Given the description of an element on the screen output the (x, y) to click on. 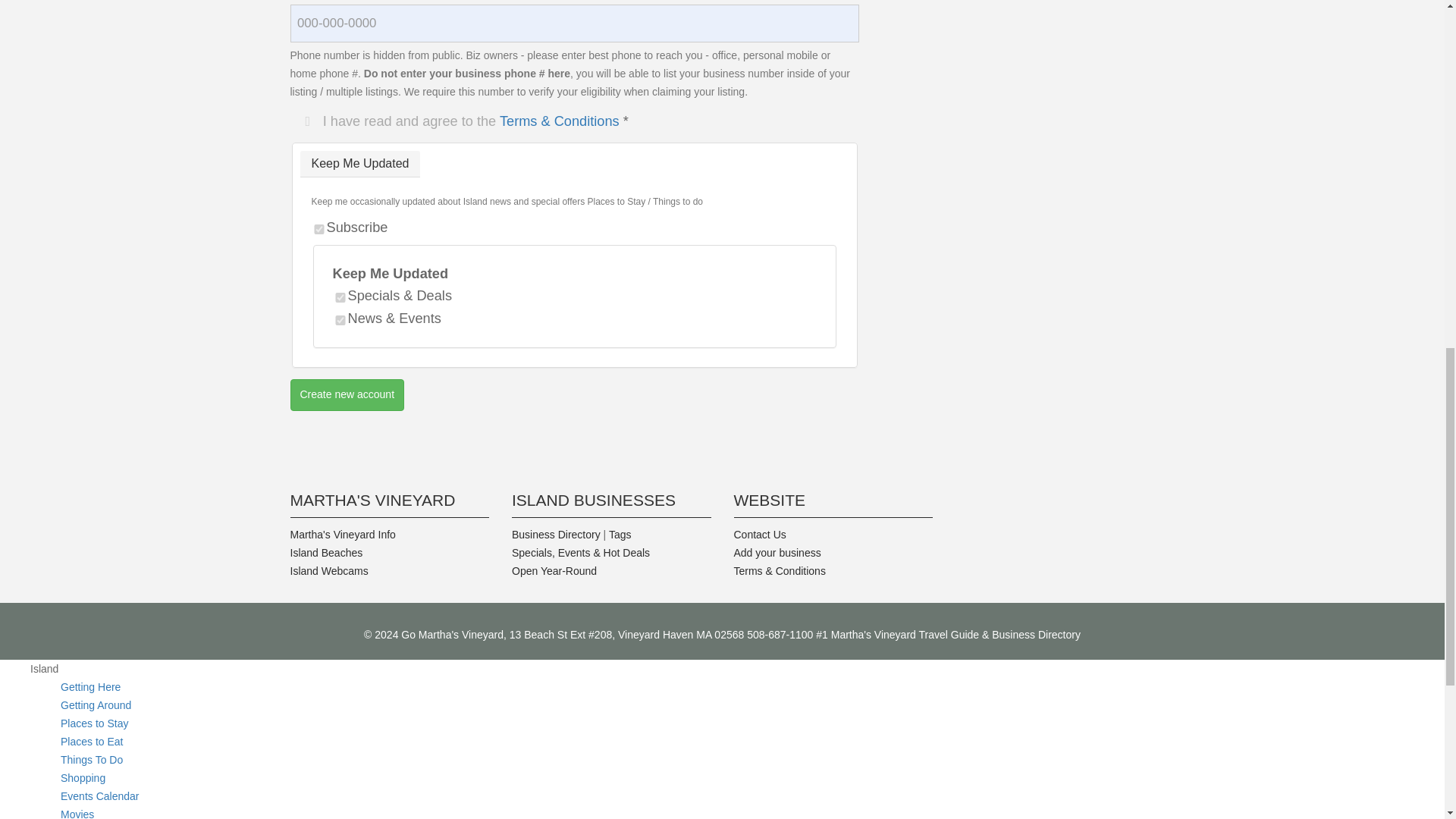
Create new account (346, 395)
Martha's Vineyard Info (341, 534)
1 (318, 229)
6d940153bd (339, 297)
8b5c659bee (339, 320)
Island Webcams (328, 571)
Tags (619, 534)
Business Directory (555, 534)
Island Beaches (325, 552)
Open Year-Round (554, 571)
